Given the description of an element on the screen output the (x, y) to click on. 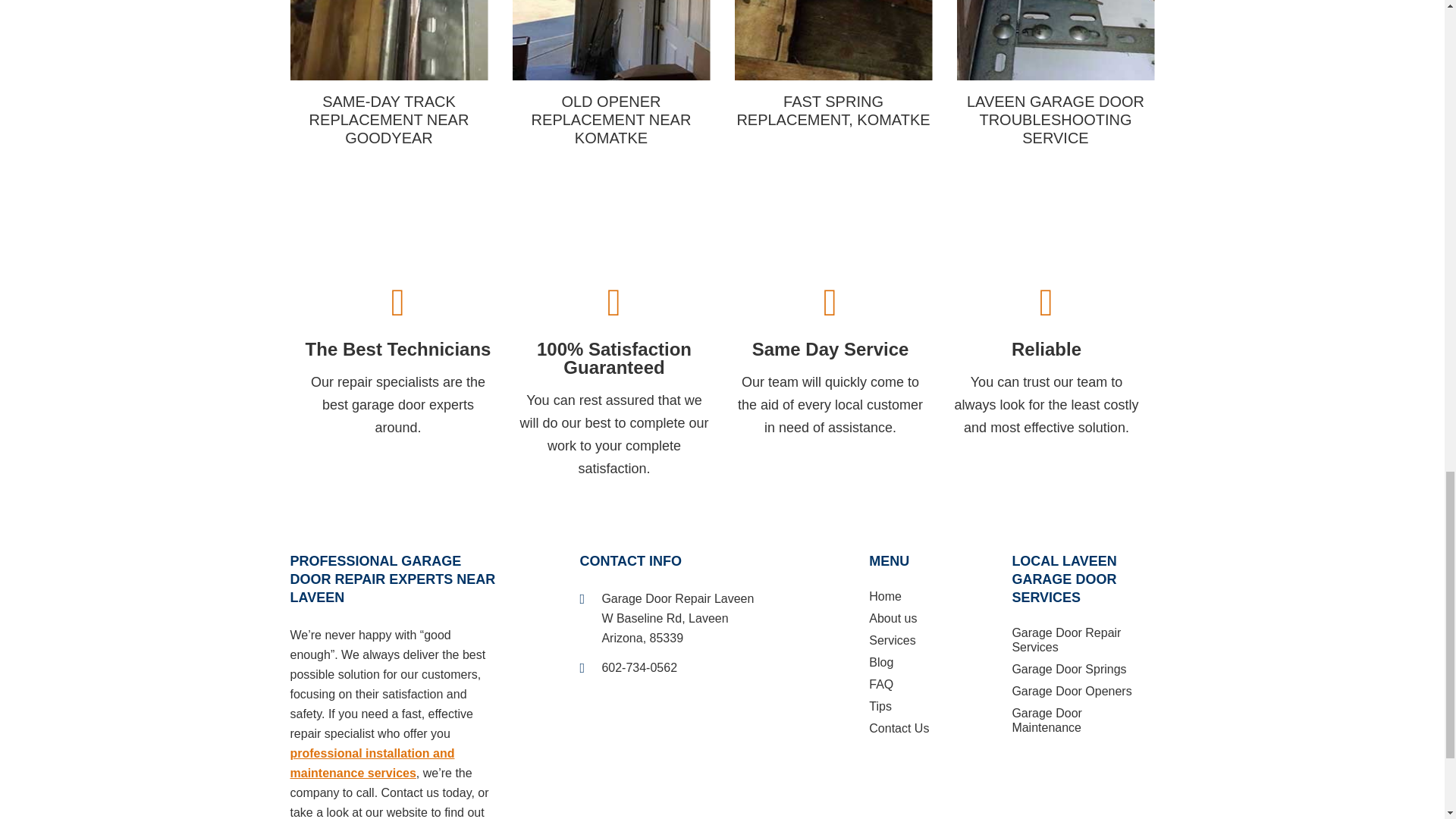
OLD OPENER REPLACEMENT NEAR KOMATKE (611, 73)
FAST SPRING REPLACEMENT, KOMATKE (832, 64)
professional installation and maintenance services (371, 762)
SAME-DAY TRACK REPLACEMENT NEAR GOODYEAR (388, 73)
Garage door maintenance (371, 762)
LAVEEN GARAGE DOOR TROUBLESHOOTING SERVICE (1055, 73)
